Given the description of an element on the screen output the (x, y) to click on. 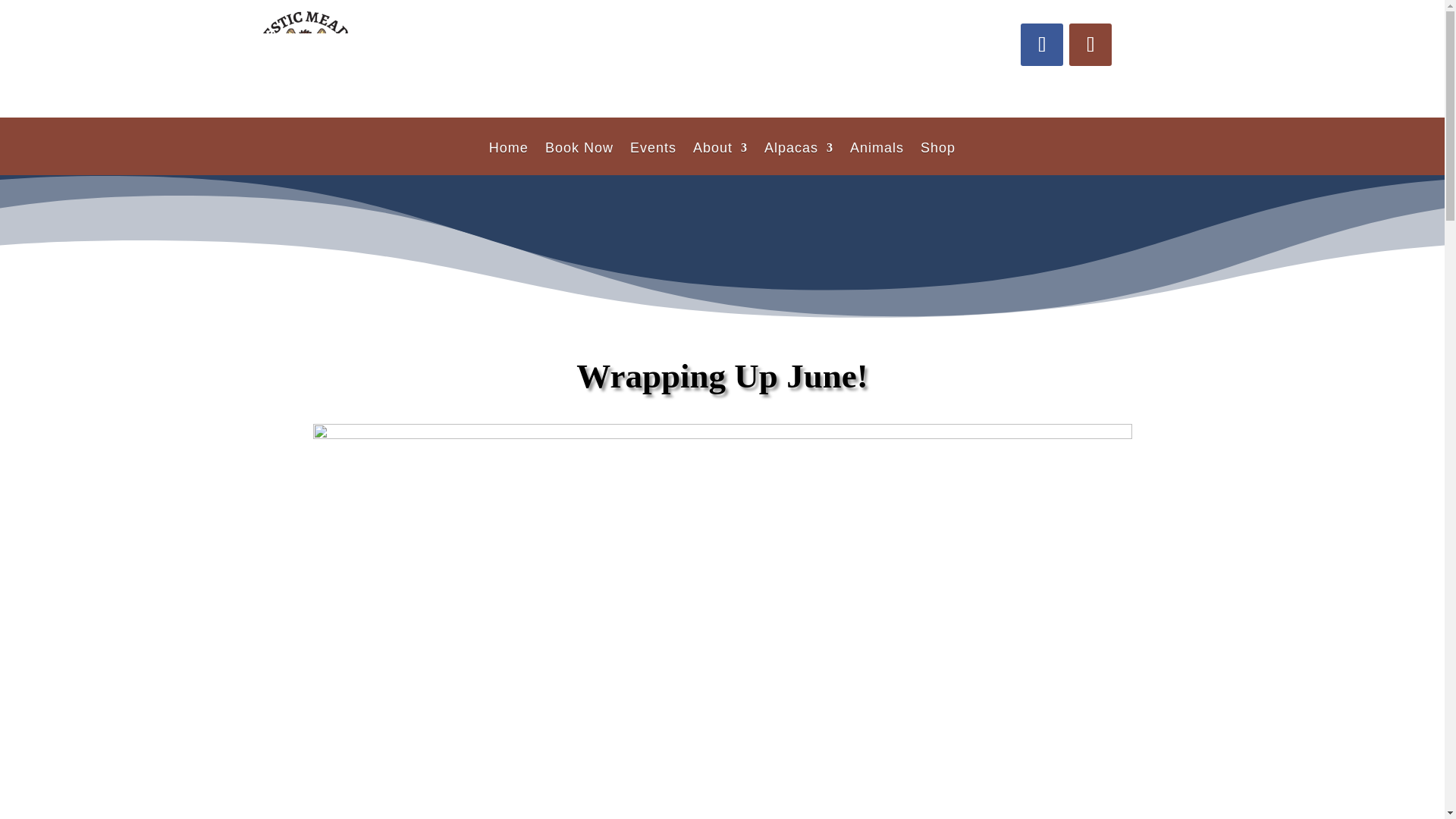
About (720, 158)
Animals (877, 158)
Events (653, 158)
Follow on Facebook (1041, 44)
Home (508, 158)
Follow on Instagram (1090, 44)
Book Now (578, 158)
Shop (937, 158)
Alpacas (798, 158)
